Given the description of an element on the screen output the (x, y) to click on. 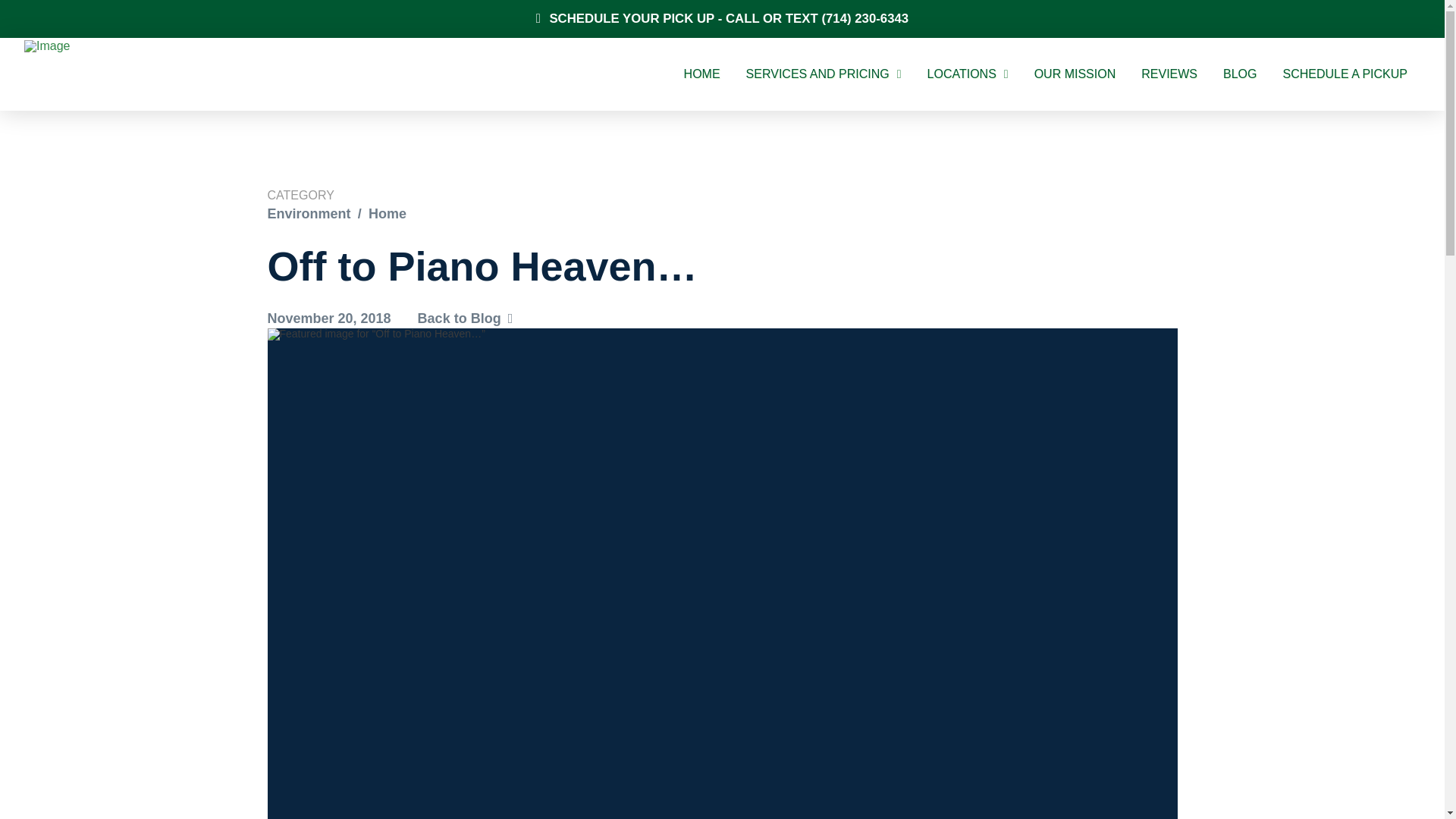
Back to Blog (465, 318)
LOCATIONS (968, 73)
OUR MISSION (1075, 73)
REVIEWS (1168, 73)
SERVICES AND PRICING (823, 73)
Environment (308, 213)
Home (387, 213)
SCHEDULE A PICKUP (1345, 73)
